Given the description of an element on the screen output the (x, y) to click on. 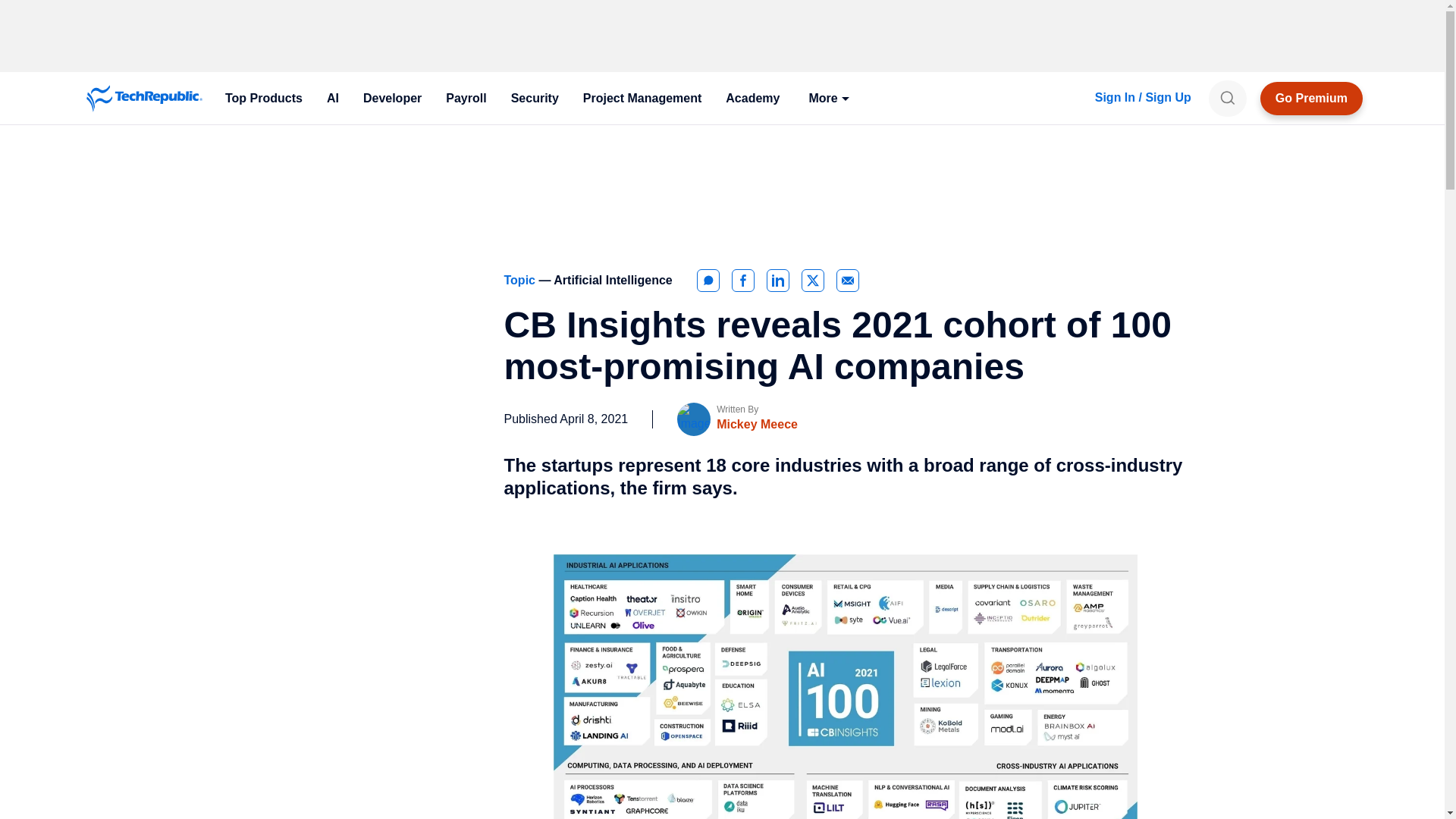
TechRepublic (143, 98)
Developer (392, 98)
Payroll (465, 98)
Project Management (641, 98)
Top Products (263, 98)
Go Premium (1311, 98)
TechRepublic (143, 98)
Security (534, 98)
TechRepublic (143, 98)
Academy (752, 98)
